Given the description of an element on the screen output the (x, y) to click on. 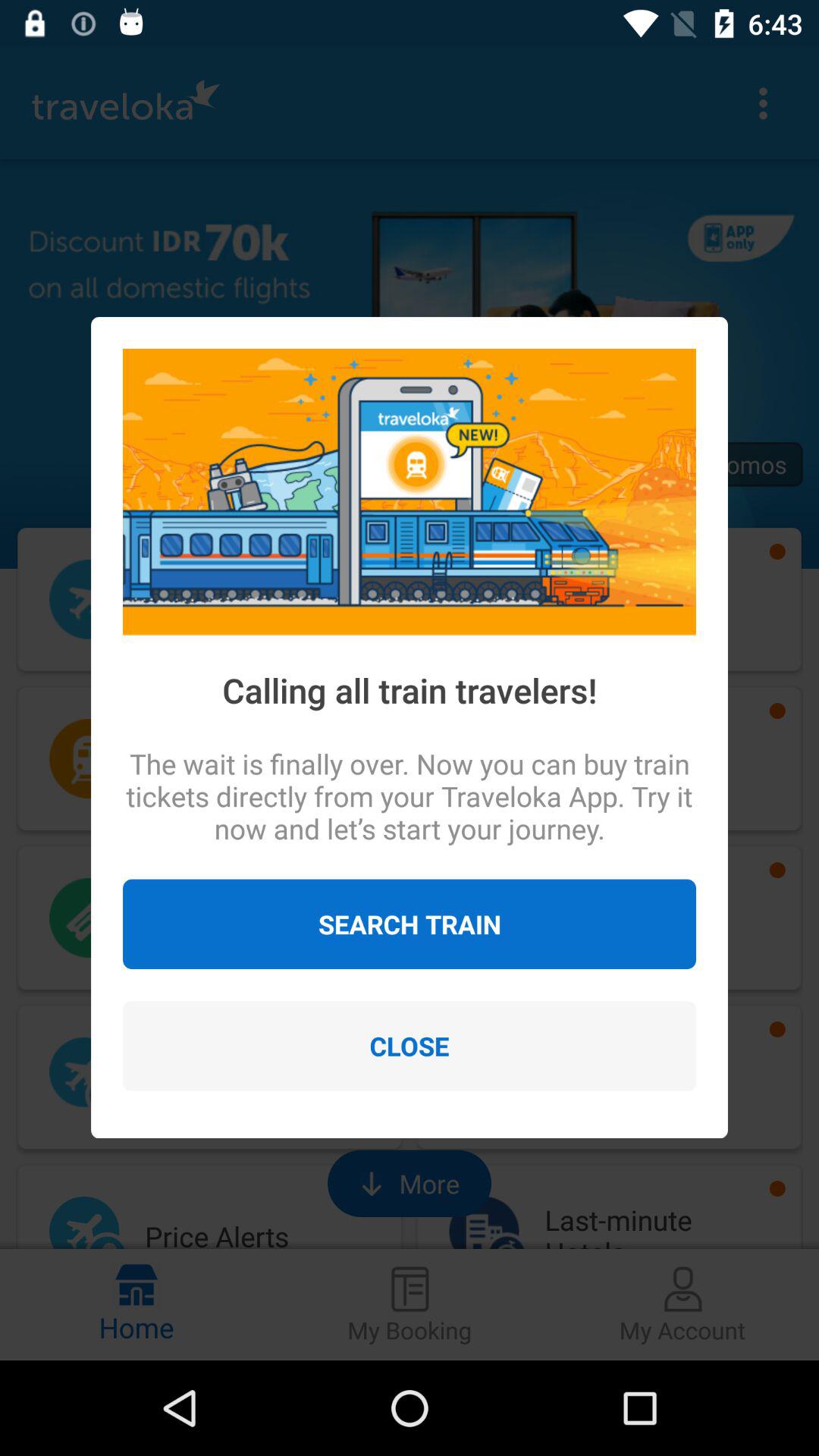
swipe until close icon (409, 1045)
